Given the description of an element on the screen output the (x, y) to click on. 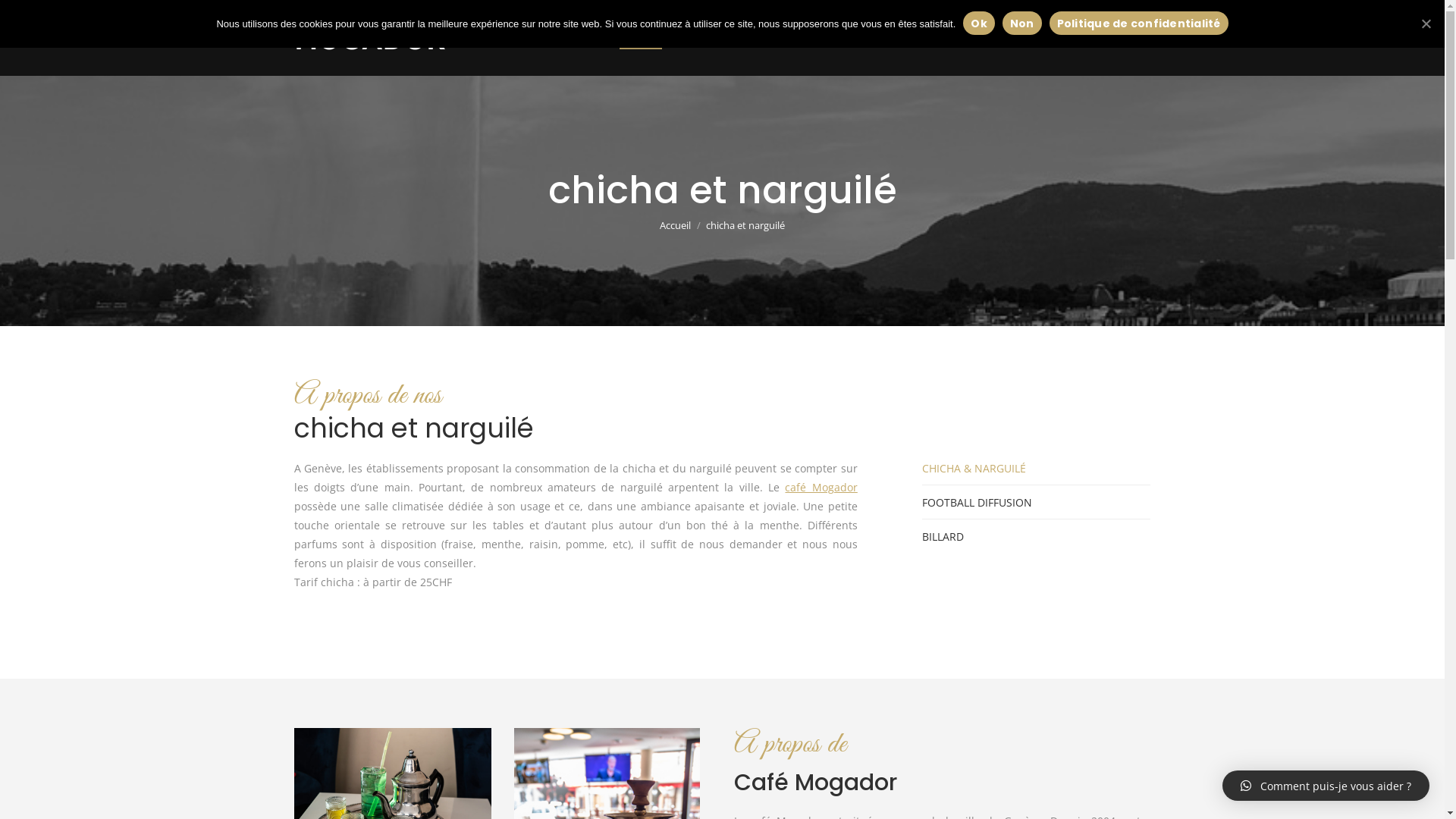
CONTACT Element type: text (983, 37)
Comment puis-je vous aider ? Element type: text (1325, 785)
BILLARD Element type: text (942, 536)
TARIFS Element type: text (913, 37)
BILLARD Element type: text (850, 37)
Instagram Element type: text (1141, 37)
Facebook Element type: text (1118, 37)
FOOTBALL DIFFUSION Element type: text (977, 501)
CHICHA Element type: text (639, 37)
Ok Element type: text (978, 22)
Non Element type: text (1021, 22)
ACCUEIL Element type: text (572, 37)
Accueil Element type: text (674, 225)
FOOTBALL-DIFFUSION Element type: text (745, 37)
